Given the description of an element on the screen output the (x, y) to click on. 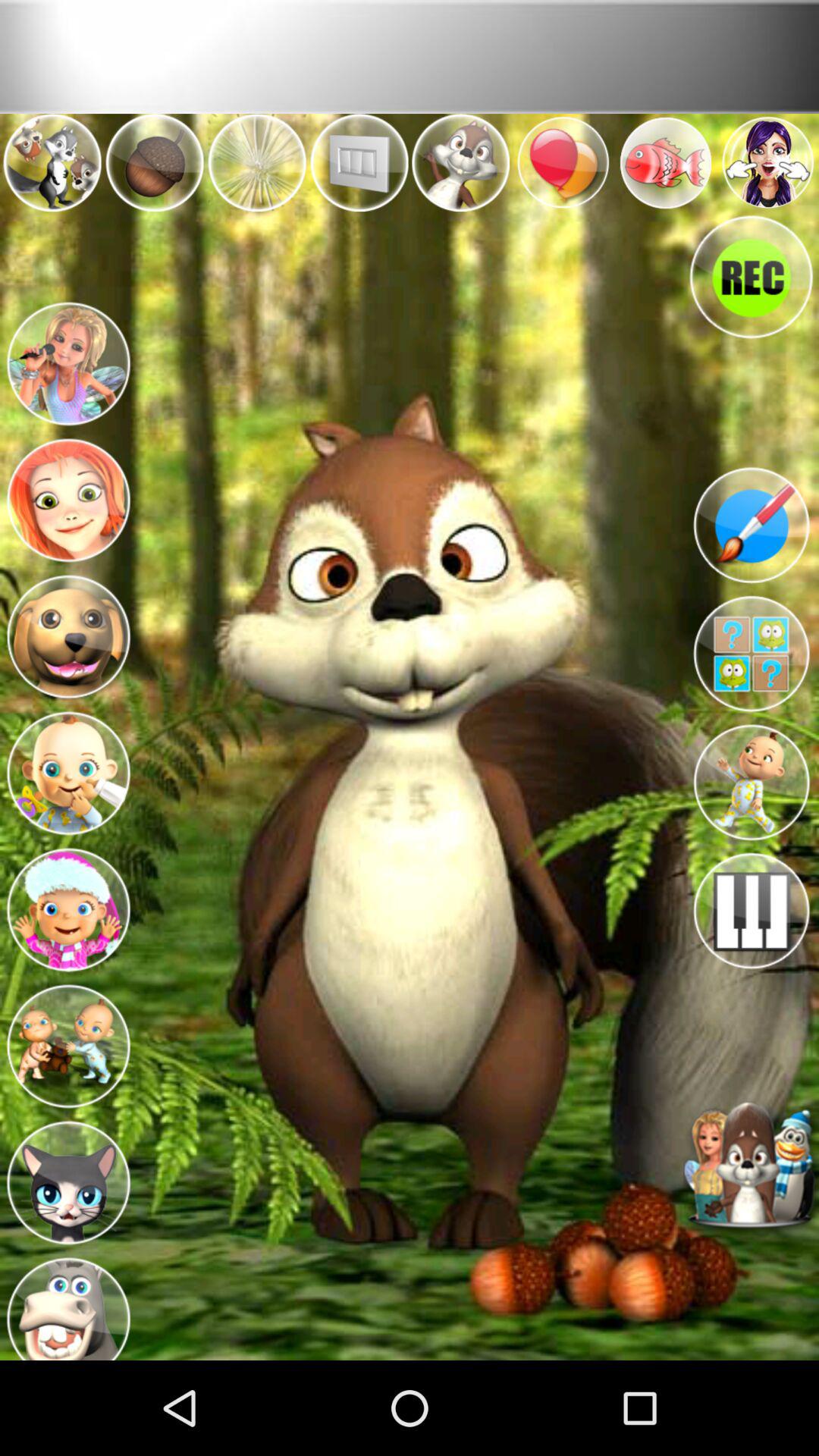
change to dog (68, 632)
